Given the description of an element on the screen output the (x, y) to click on. 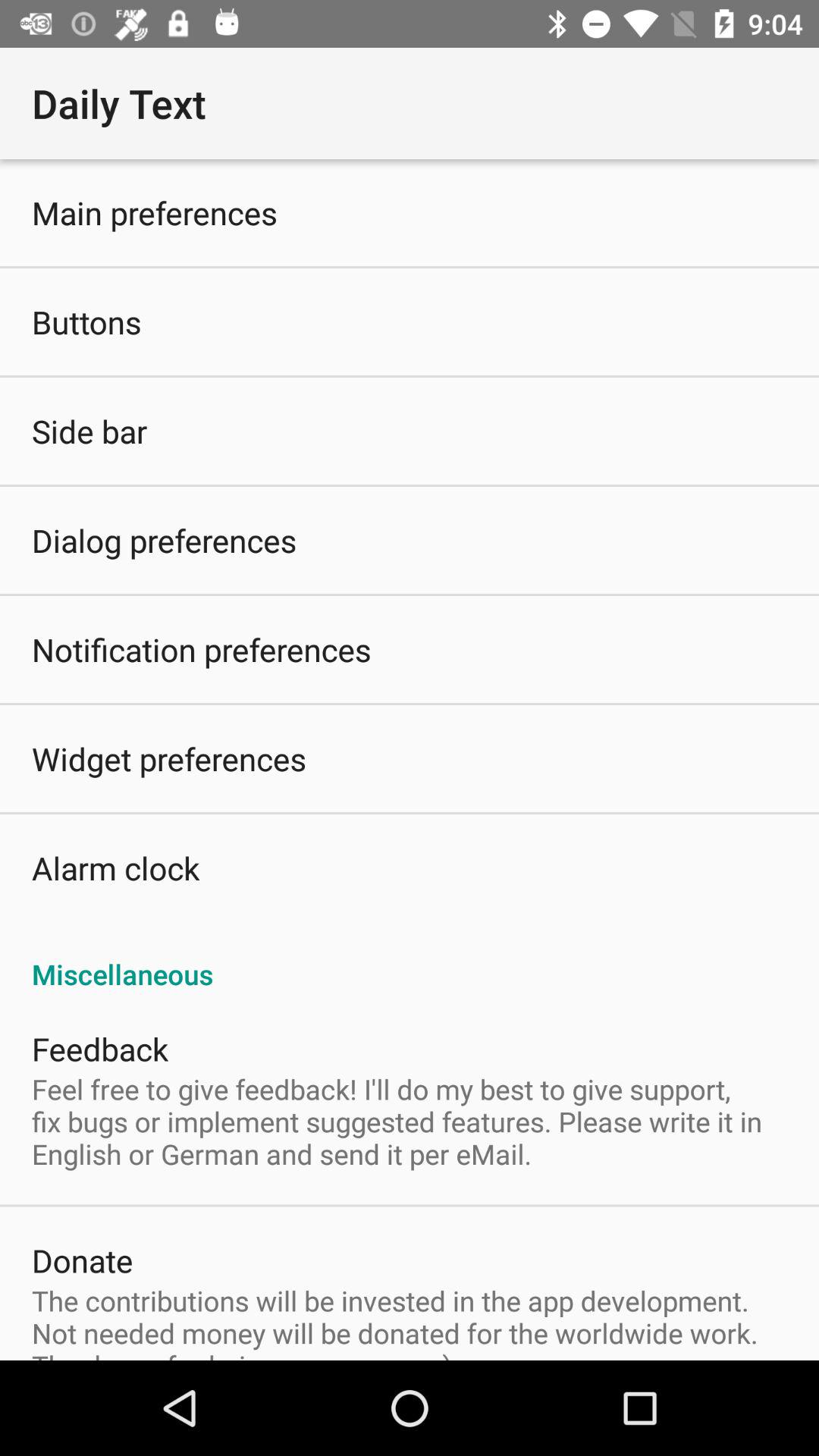
scroll until notification preferences app (201, 649)
